Given the description of an element on the screen output the (x, y) to click on. 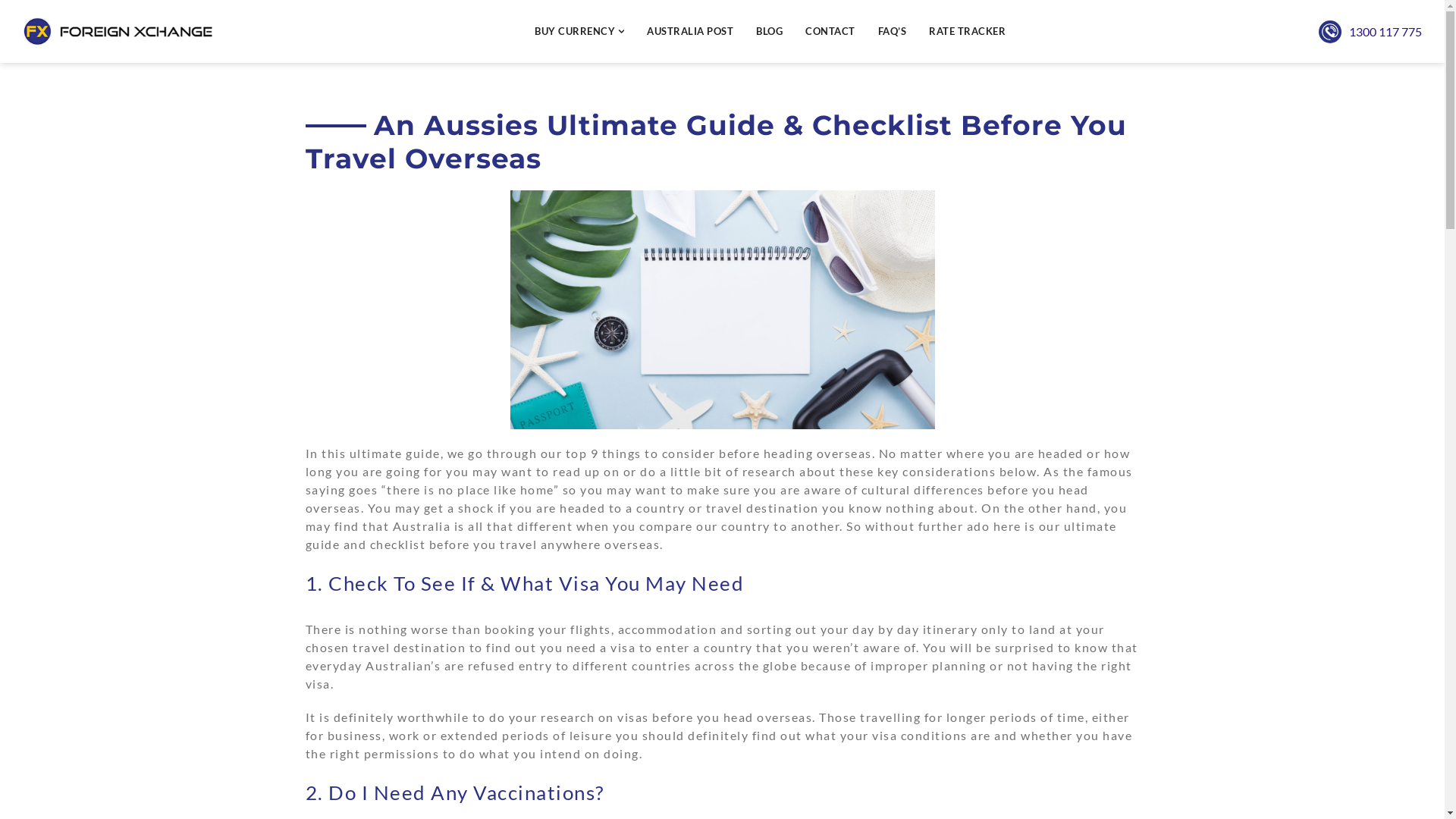
BLOG Element type: text (769, 31)
AUSTRALIA POST Element type: text (689, 31)
BUY CURRENCY Element type: text (579, 31)
1300 117 775 Element type: text (1385, 31)
RATE TRACKER Element type: text (966, 31)
CONTACT Element type: text (830, 31)
